Given the description of an element on the screen output the (x, y) to click on. 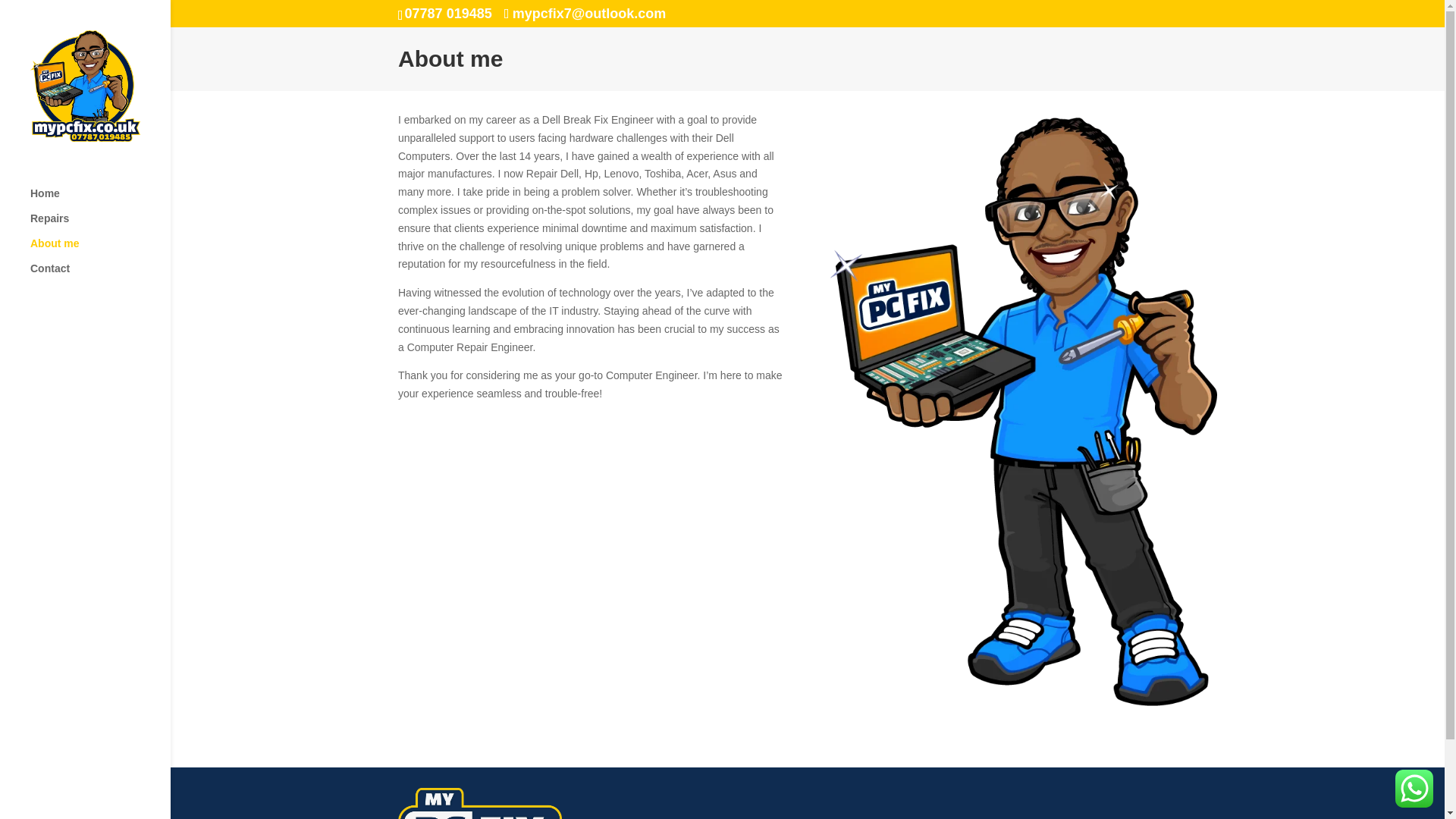
About me (100, 250)
MyPCFix - Computer Repairs Buckinghamshire (590, 534)
Contact (100, 275)
Home (100, 200)
Repairs (100, 225)
